Given the description of an element on the screen output the (x, y) to click on. 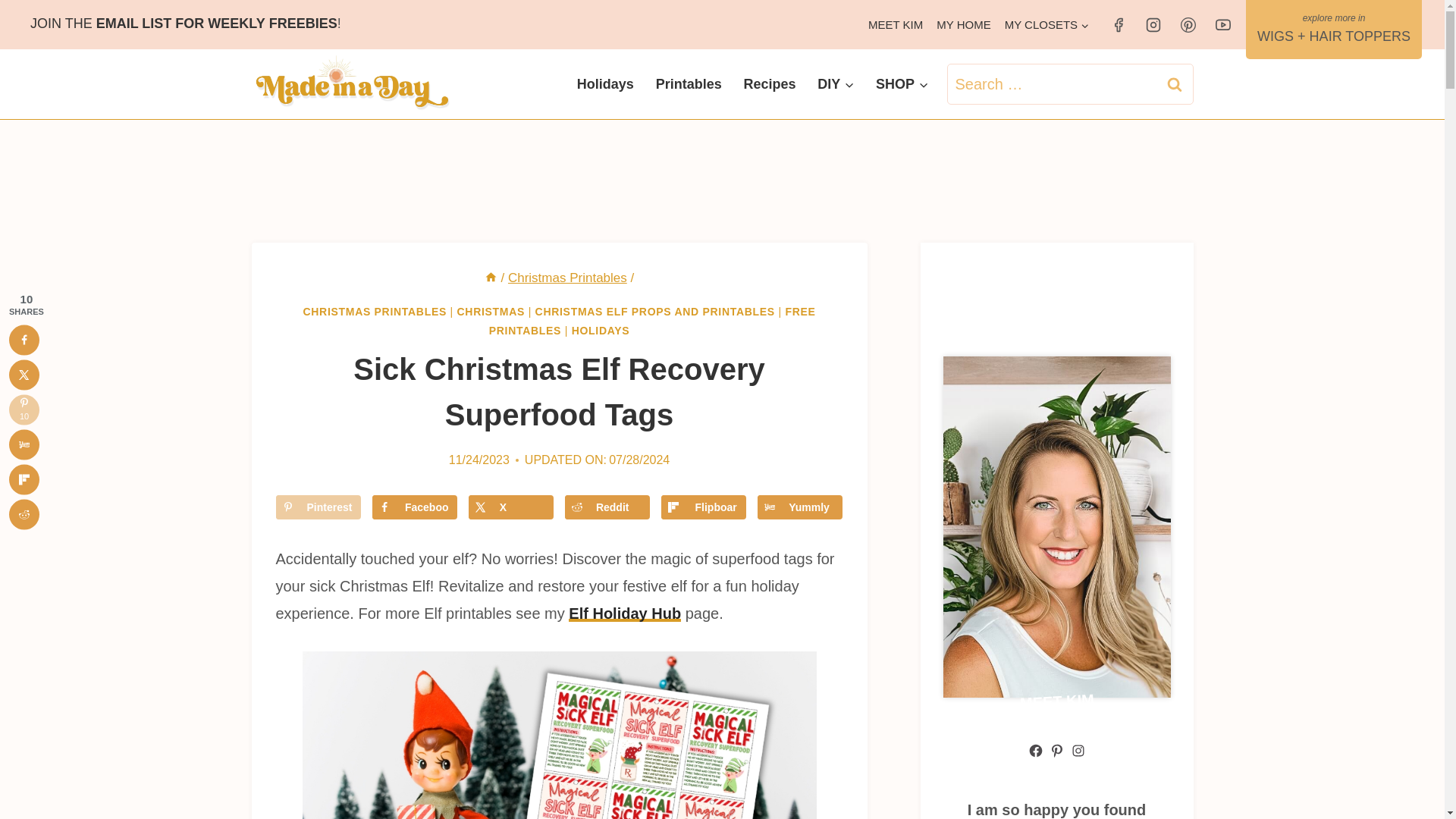
Share on Yummly (800, 507)
Share on Facebook (414, 507)
JOIN THE EMAIL LIST FOR WEEKLY FREEBIES (183, 23)
X (510, 507)
Search (1174, 83)
CHRISTMAS (491, 311)
DIY (835, 83)
CHRISTMAS ELF PROPS AND PRINTABLES (654, 311)
Recipes (769, 83)
MY HOME (963, 24)
